Given the description of an element on the screen output the (x, y) to click on. 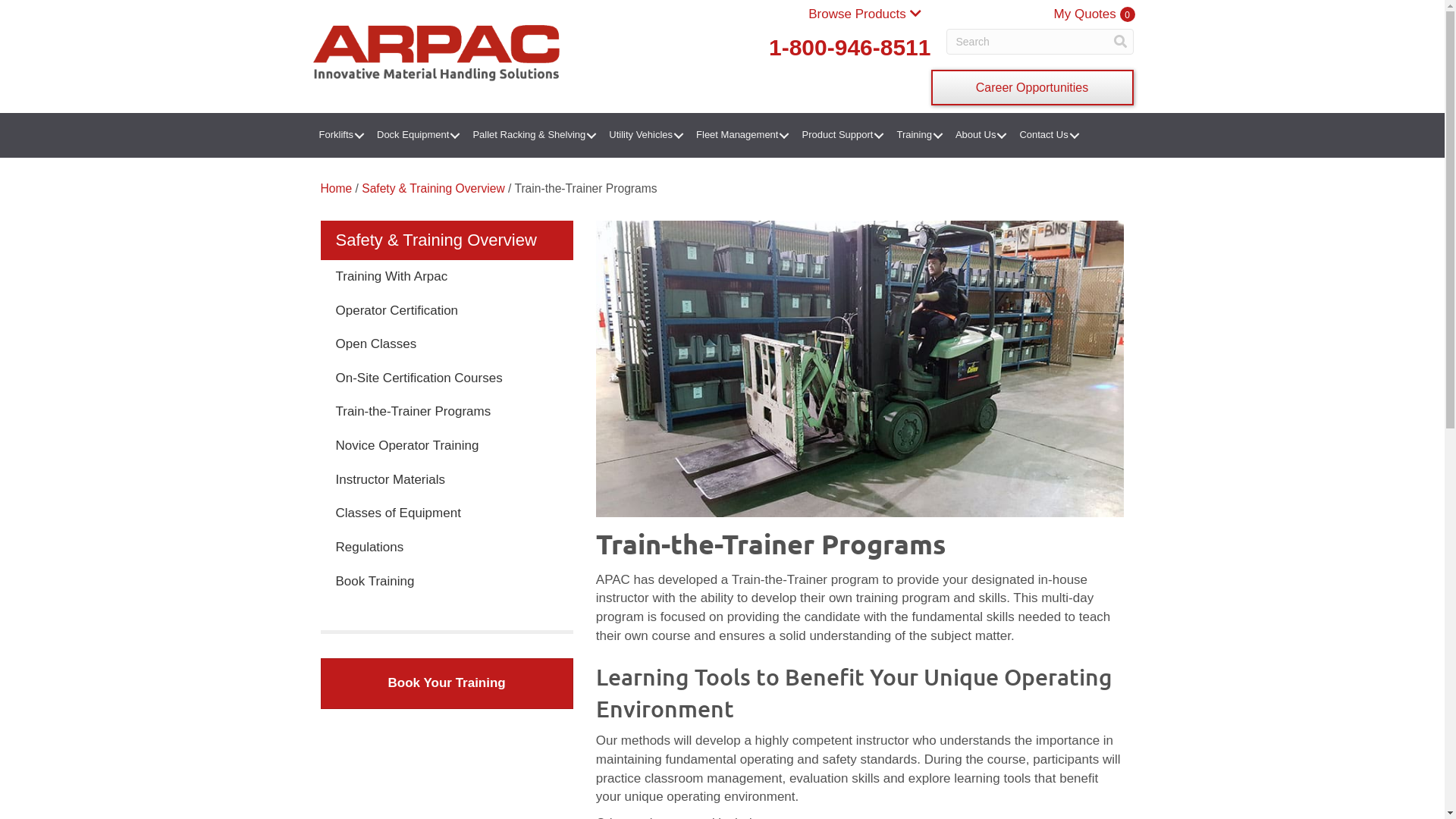
Browse Products Element type: text (864, 14)
Fleet Management Element type: text (740, 134)
Training With Arpac Element type: text (446, 277)
Instructor Materials Element type: text (446, 480)
Safety & Training Overview Element type: text (446, 240)
Training Element type: text (917, 134)
Career Opportunities Element type: text (1032, 87)
Classes of Equipment Element type: text (446, 513)
Dock Equipment Element type: text (416, 134)
Open Classes Element type: text (446, 344)
1-800-946-8511 Element type: text (829, 47)
Regulations Element type: text (446, 547)
Utility Vehicles Element type: text (644, 134)
Operator Certification Element type: text (446, 311)
Train-the-Trainer Programs Element type: text (446, 412)
Book Training Element type: text (446, 581)
My Quotes 0 Element type: text (1094, 14)
Product Support Element type: text (840, 134)
Book Your Training Element type: text (446, 683)
Pallet Racking & Shelving Element type: text (532, 134)
About Us Element type: text (978, 134)
Type and press Enter to search. Element type: hover (1039, 41)
Safety & Training Overview Element type: text (432, 188)
arpac-logo Element type: hover (435, 51)
Contact Us Element type: text (1046, 134)
Forklifts Element type: text (339, 134)
Home Element type: text (335, 188)
On-Site Certification Courses Element type: text (446, 378)
Novice Operator Training Element type: text (446, 446)
